Given the description of an element on the screen output the (x, y) to click on. 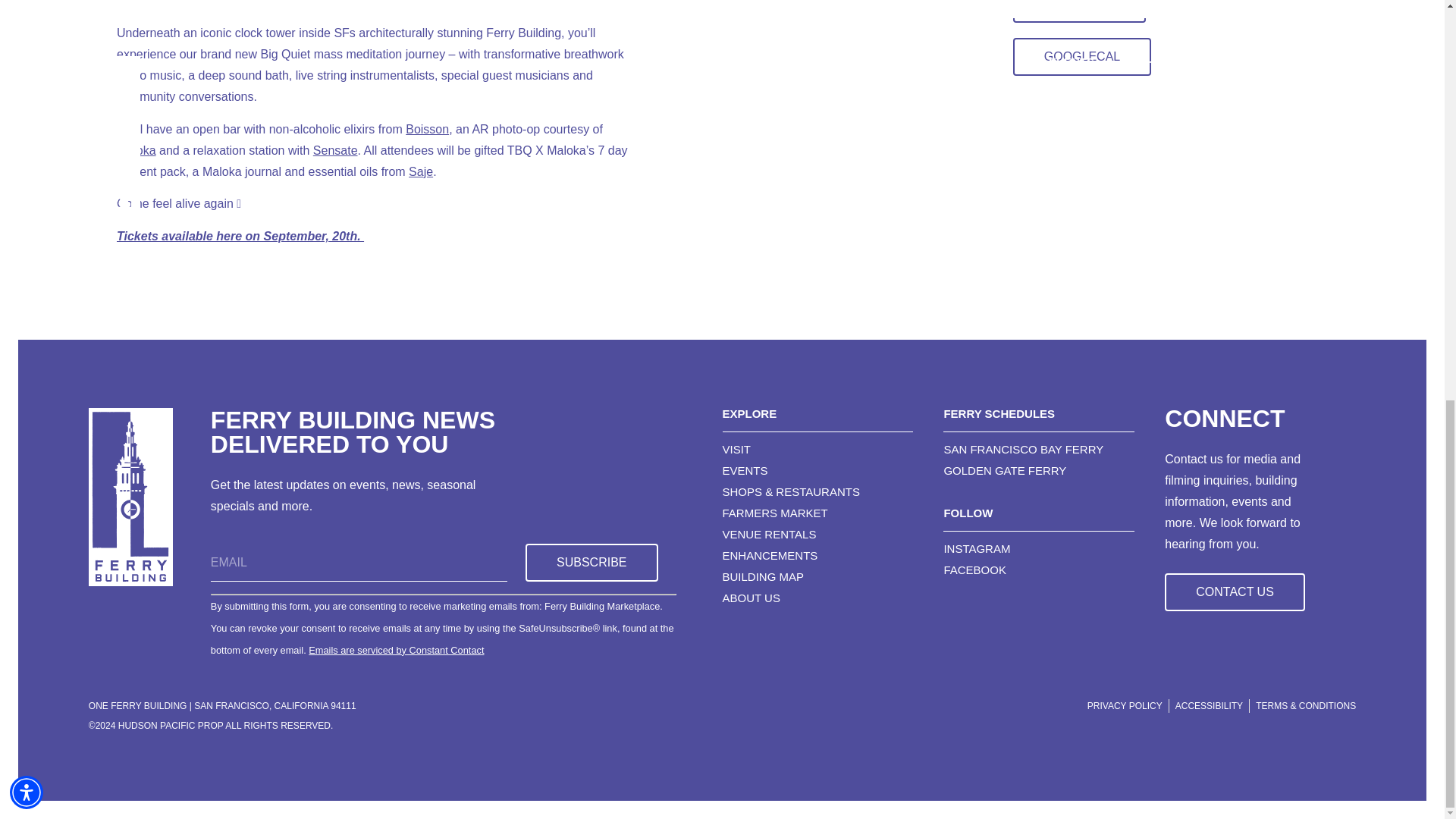
Subscribe (591, 562)
Accessibility Menu (26, 13)
